Given the description of an element on the screen output the (x, y) to click on. 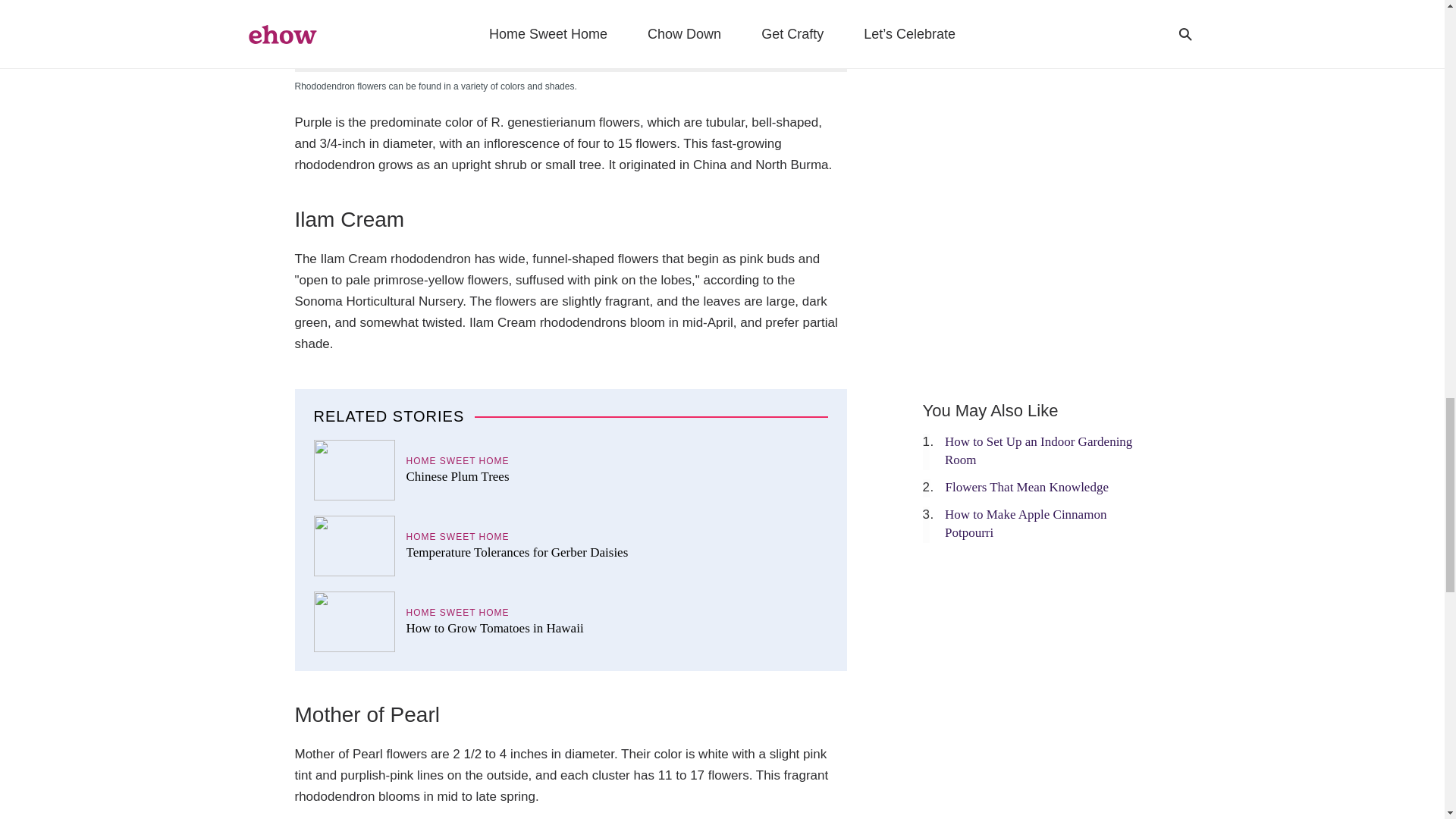
Flowers That Mean Knowledge (1026, 486)
How to Make Apple Cinnamon Potpourri (1025, 522)
How to Set Up an Indoor Gardening Room (1038, 450)
